Given the description of an element on the screen output the (x, y) to click on. 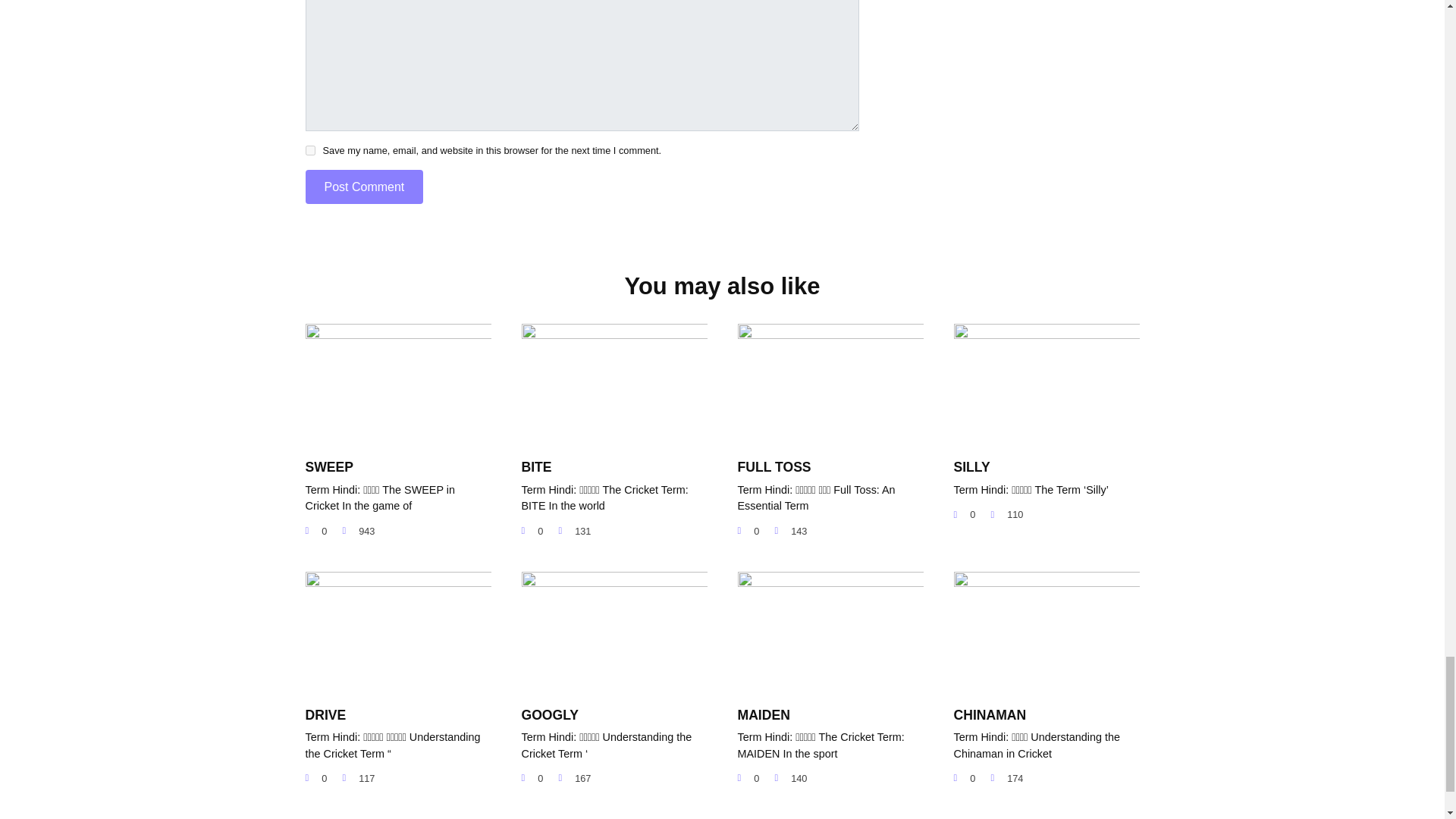
SILLY (971, 466)
Post Comment (363, 186)
BITE (536, 466)
FULL TOSS (773, 466)
yes (309, 150)
SWEEP (328, 466)
Post Comment (363, 186)
DRIVE (325, 714)
